Given the description of an element on the screen output the (x, y) to click on. 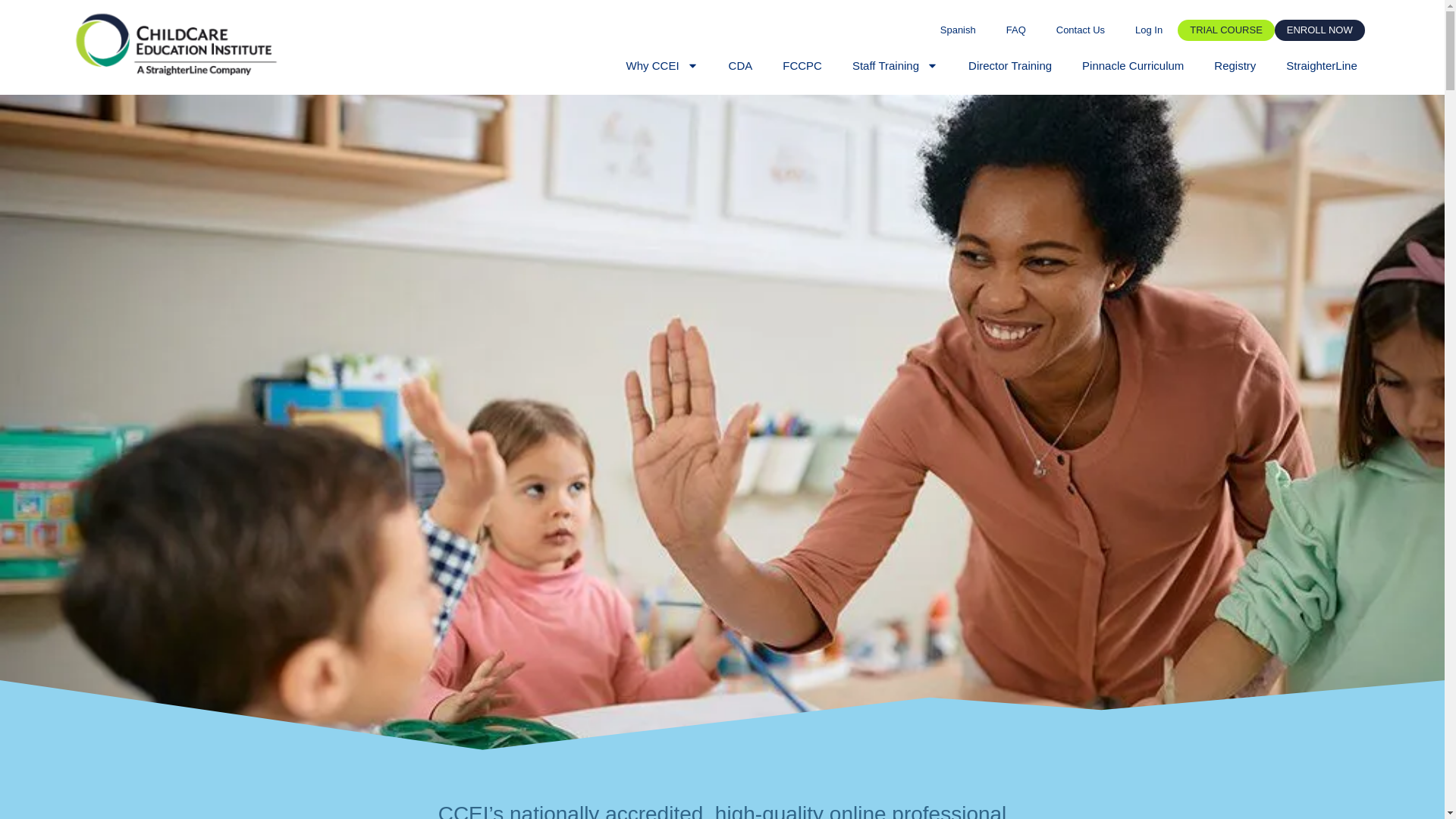
Registry (1234, 65)
ENROLL NOW (1320, 29)
FAQ (1016, 30)
StraighterLine (1321, 65)
Spanish (957, 30)
Pinnacle Curriculum (1132, 65)
Staff Training (895, 65)
Director Training (1010, 65)
CDA (740, 65)
Log In (1148, 30)
Contact Us (1080, 30)
Why CCEI (662, 65)
TRIAL COURSE (1226, 29)
FCCPC (802, 65)
